Given the description of an element on the screen output the (x, y) to click on. 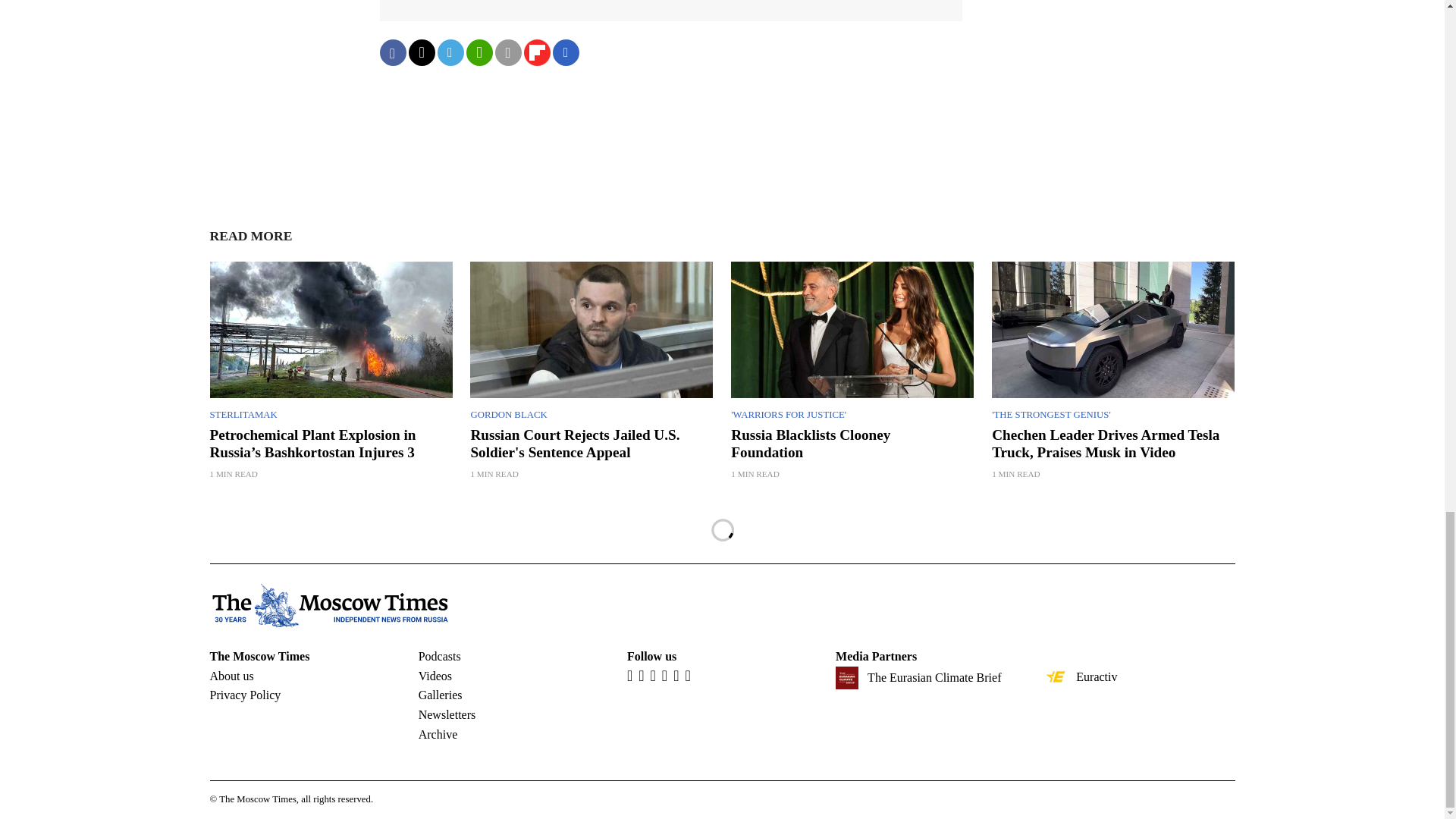
Share on Facebook (392, 52)
Share on Twitter (420, 52)
Share on Telegram (449, 52)
Share on Flipboard (536, 52)
